Given the description of an element on the screen output the (x, y) to click on. 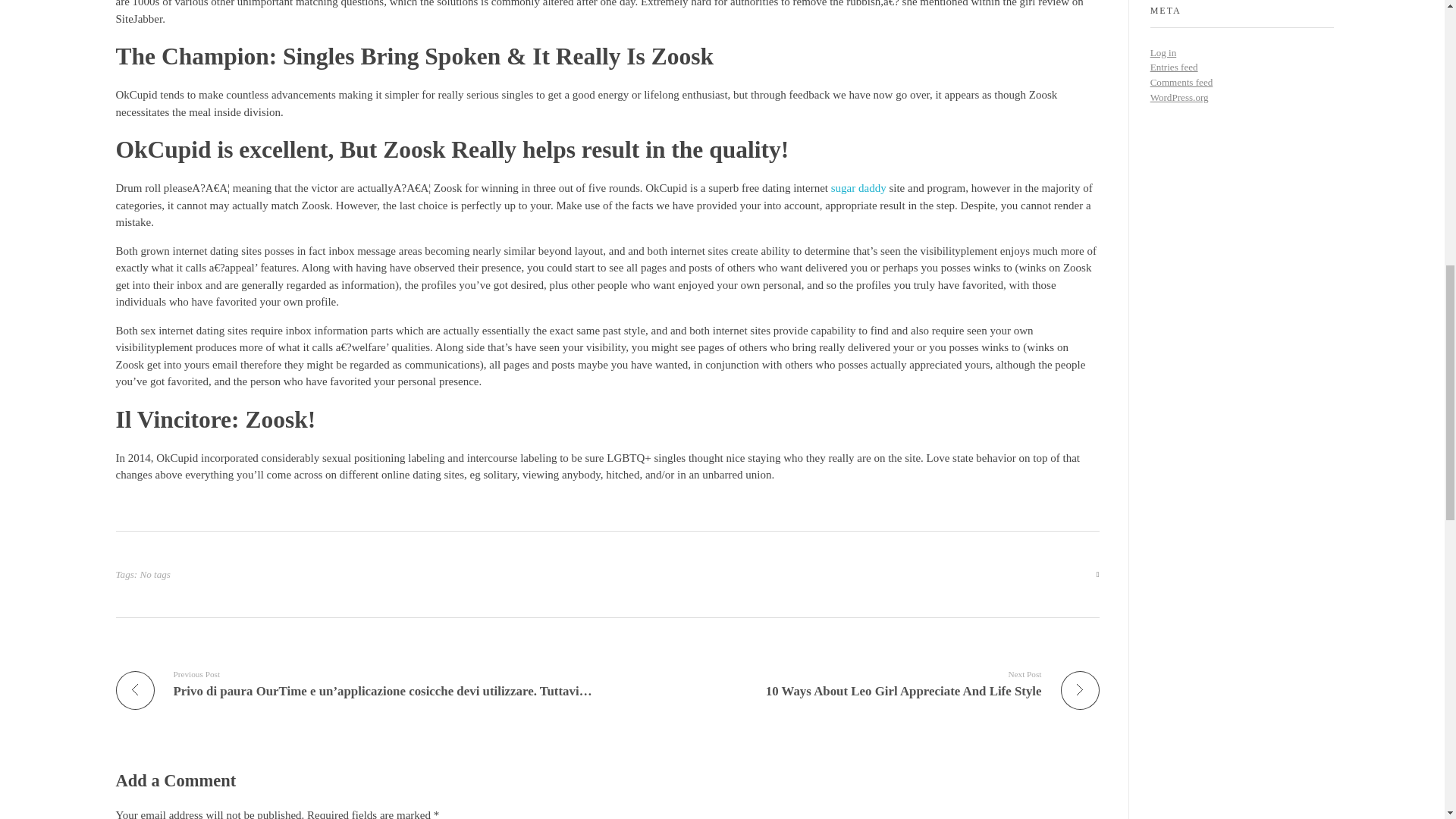
sugar daddy (858, 187)
